Given the description of an element on the screen output the (x, y) to click on. 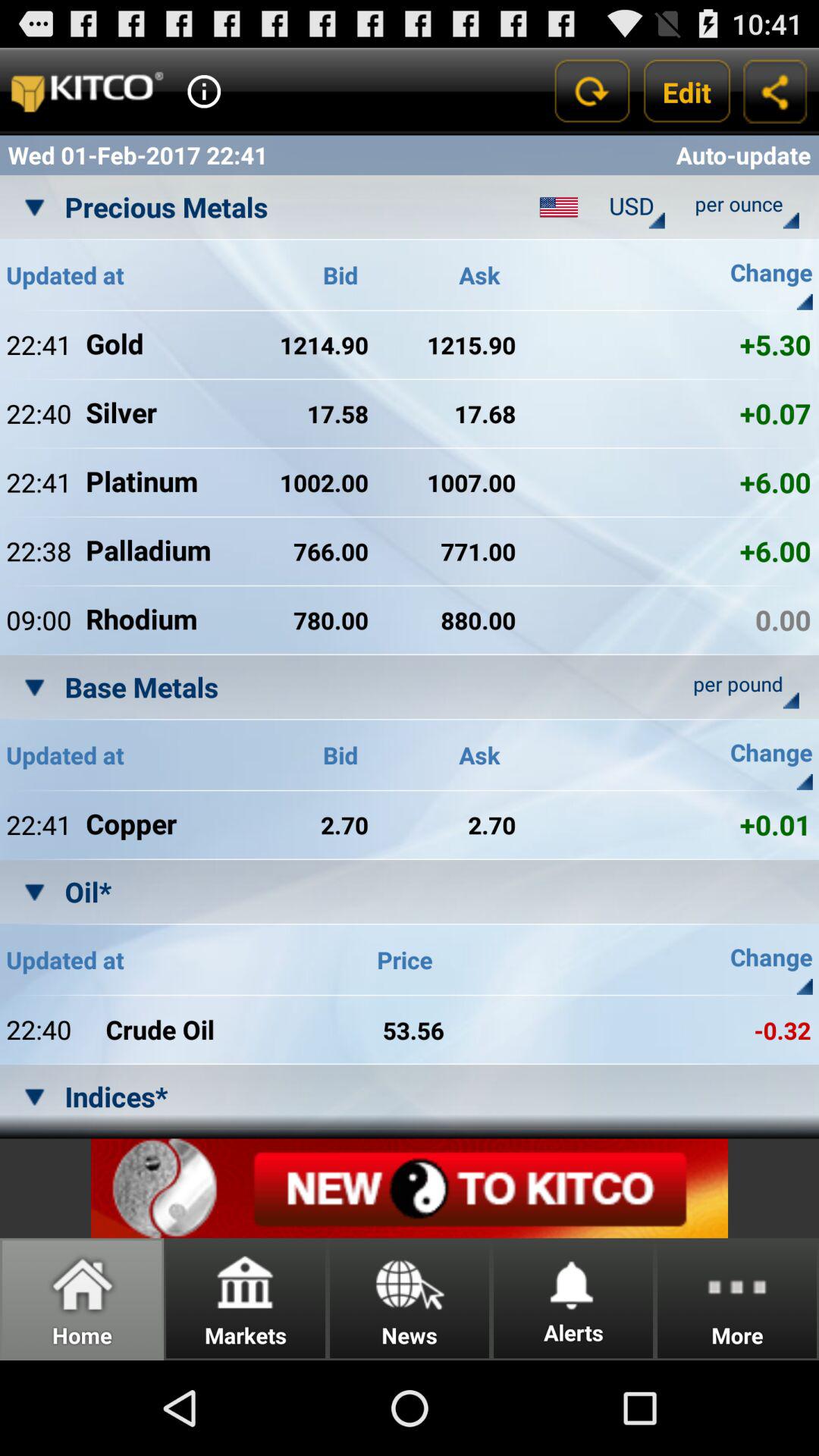
go to advertisement website (409, 1188)
